Given the description of an element on the screen output the (x, y) to click on. 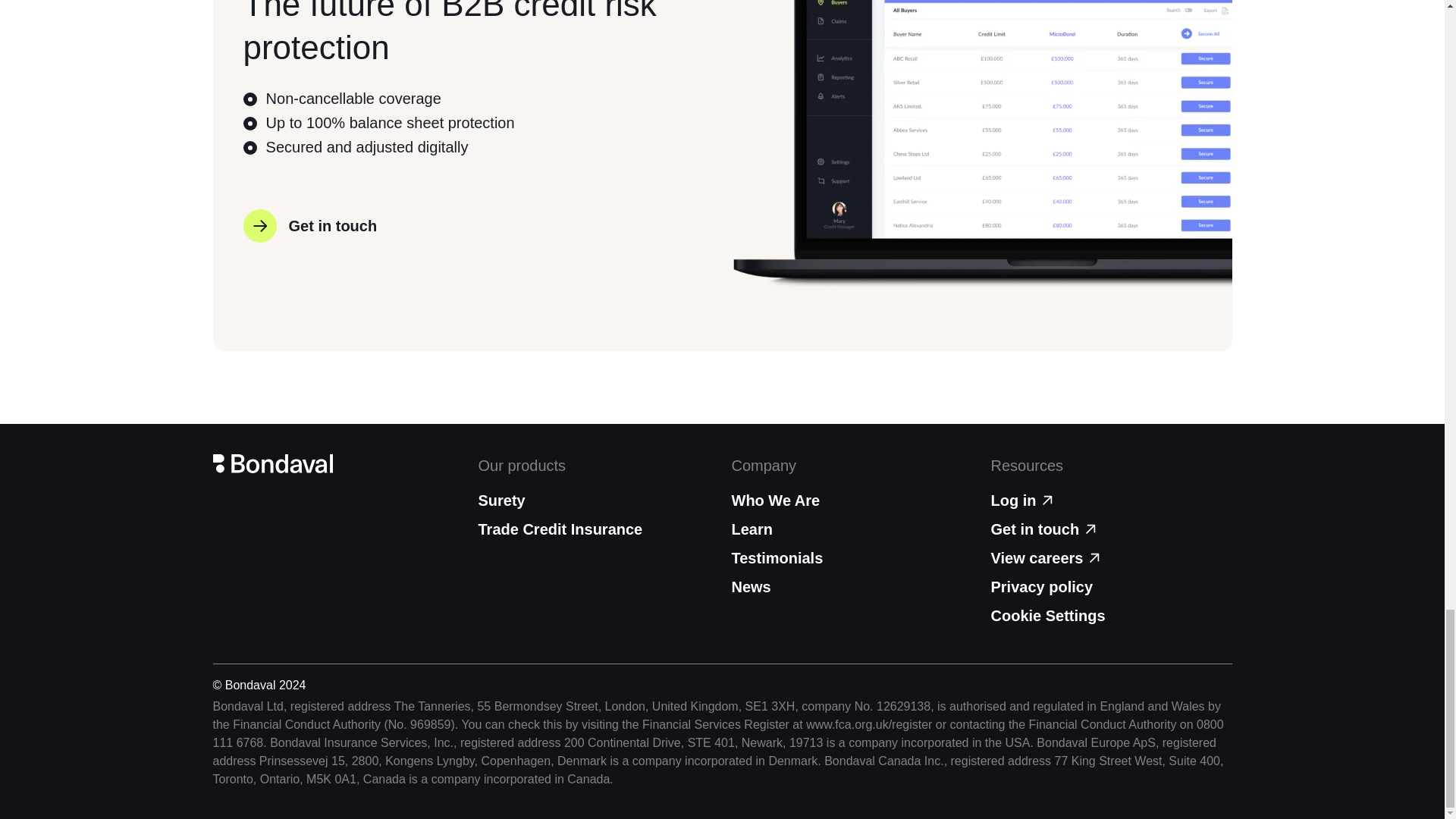
Get in touch (1110, 528)
Privacy policy (1110, 586)
Cookie Settings (1047, 615)
View careers (1110, 558)
Get in touch (310, 225)
Log in (1110, 499)
News (851, 586)
Surety (500, 500)
Testimonials (851, 558)
Learn (851, 528)
